Given the description of an element on the screen output the (x, y) to click on. 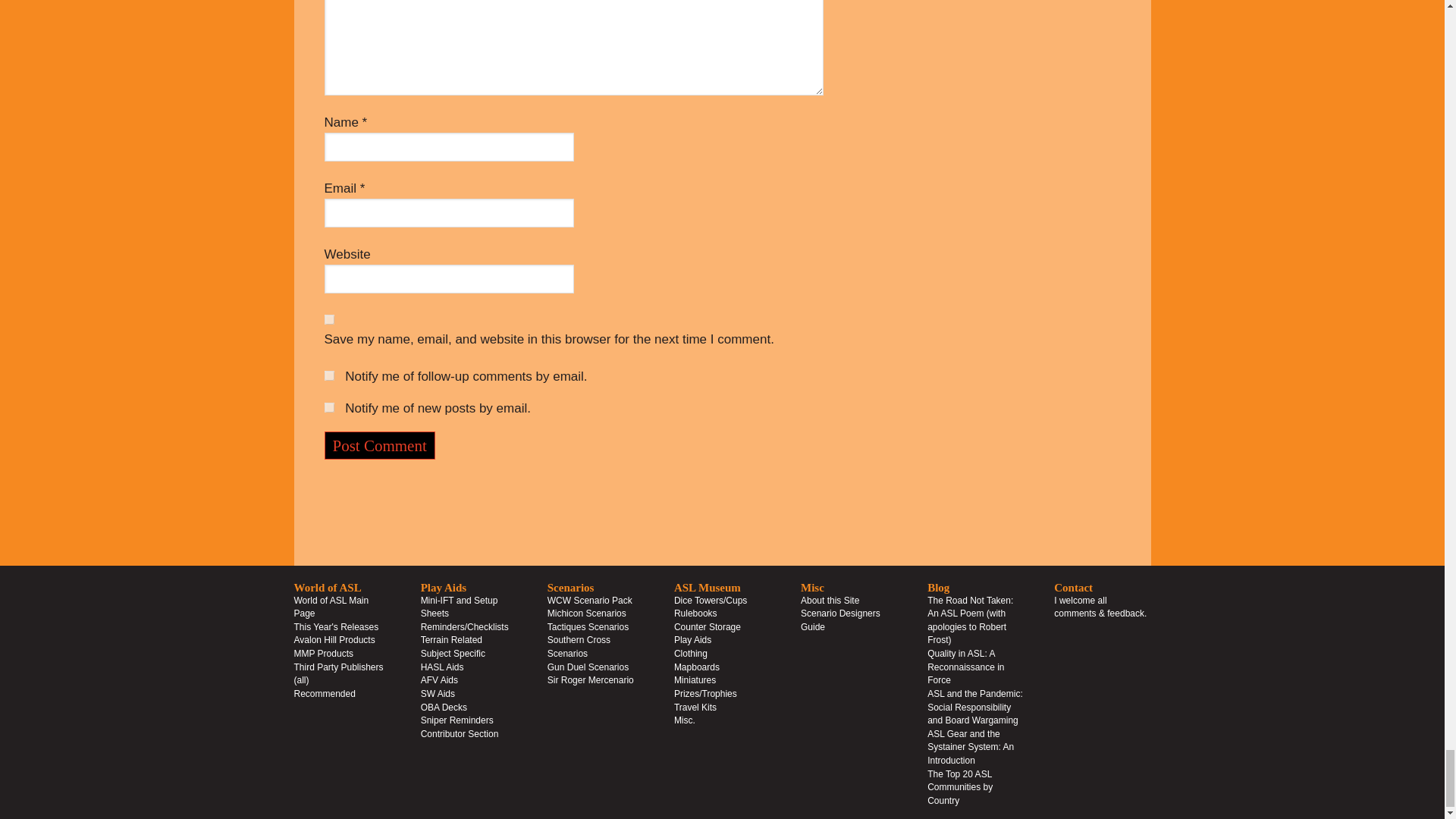
Contact (1100, 607)
subscribe (329, 407)
yes (329, 319)
subscribe (329, 375)
Post Comment (379, 445)
Post Comment (379, 445)
